Given the description of an element on the screen output the (x, y) to click on. 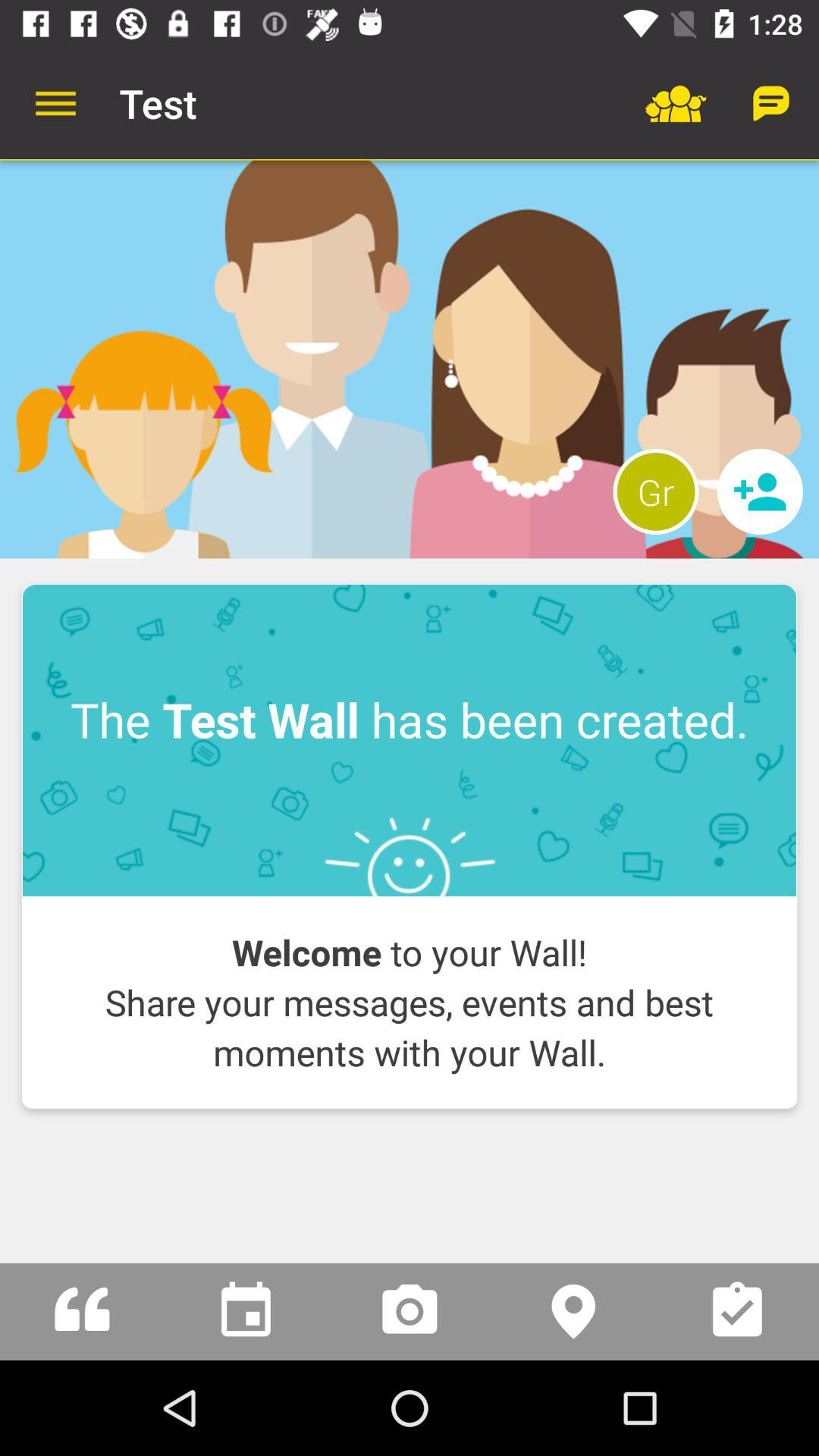
click item above the welcome to your (409, 740)
